Given the description of an element on the screen output the (x, y) to click on. 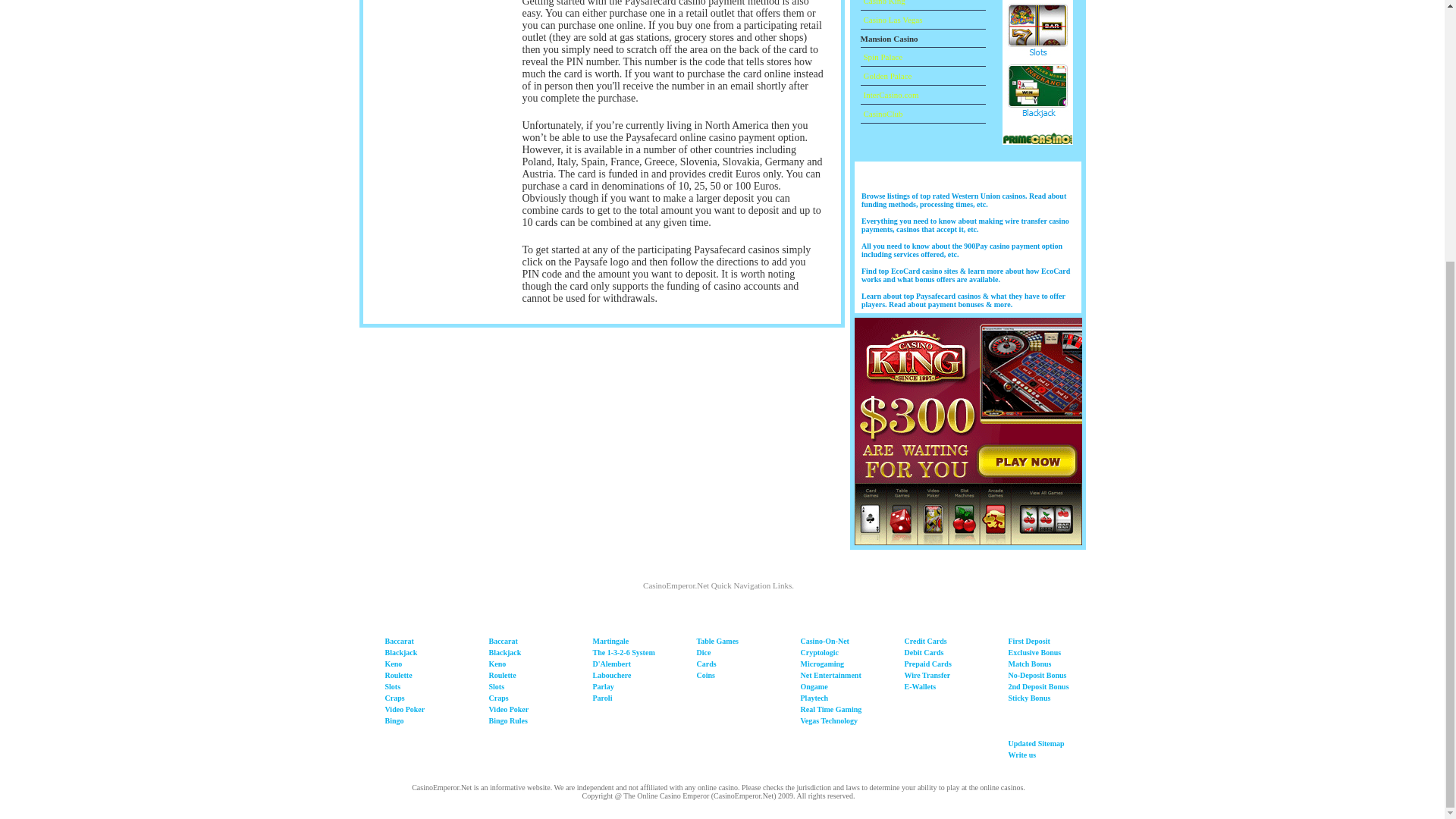
InterCasino.com (889, 93)
Spin Palace (881, 55)
Baccarat (399, 641)
Casino King (882, 2)
Golden Palace (885, 75)
CasinoClub (881, 112)
Casino Las Vegas (890, 19)
